Given the description of an element on the screen output the (x, y) to click on. 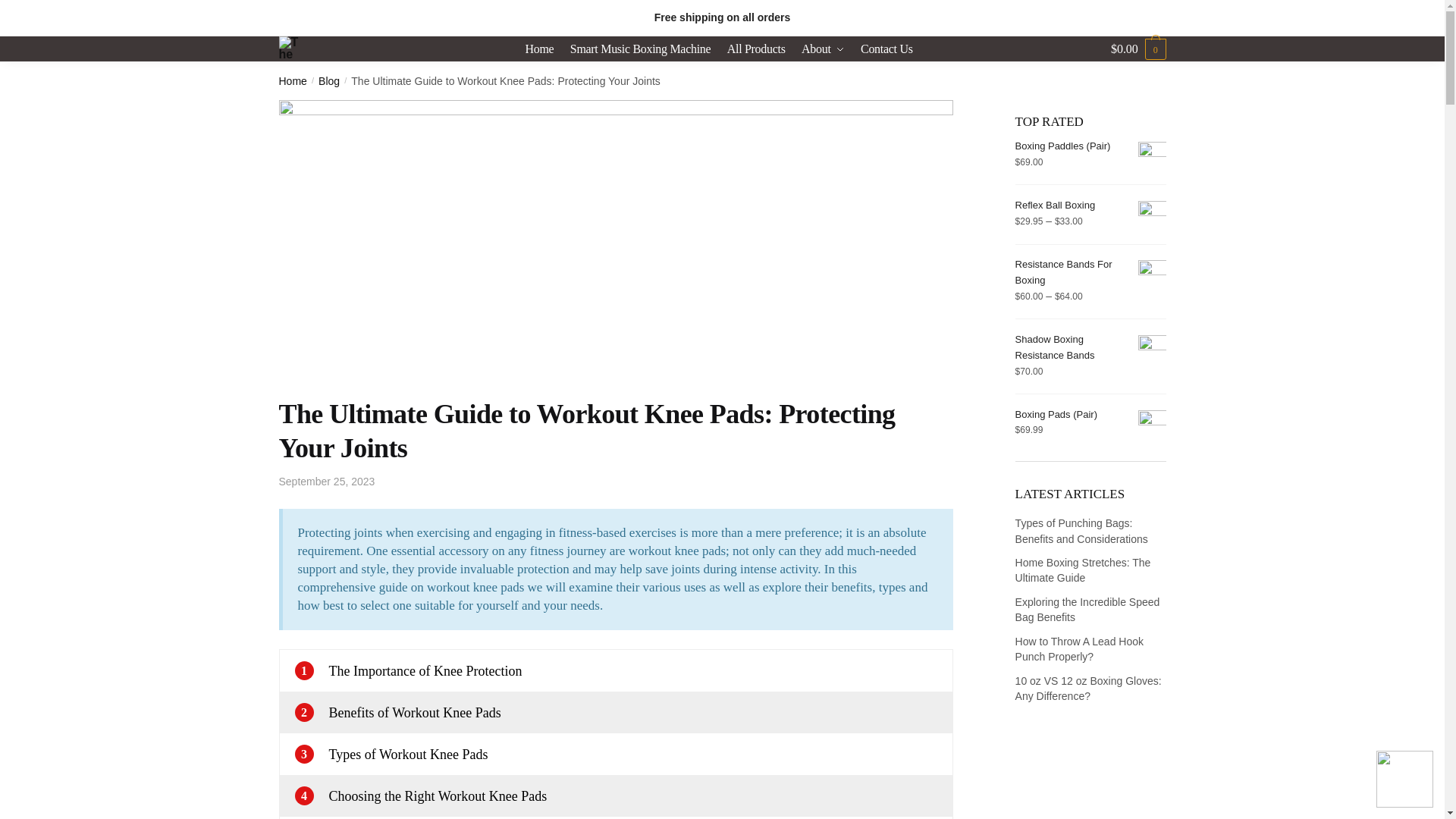
Types of Workout Knee Pads (408, 754)
Blog (328, 80)
Choosing the Right Workout Knee Pads (438, 795)
Types of Punching Bags: Benefits and Considerations (1081, 530)
Benefits of Workout Knee Pads (414, 712)
Smart Music Boxing Machine (640, 49)
Home (293, 80)
Choosing the Right Workout Knee Pads (438, 795)
All Products (756, 49)
Resistance Bands For Boxing (1090, 272)
